Given the description of an element on the screen output the (x, y) to click on. 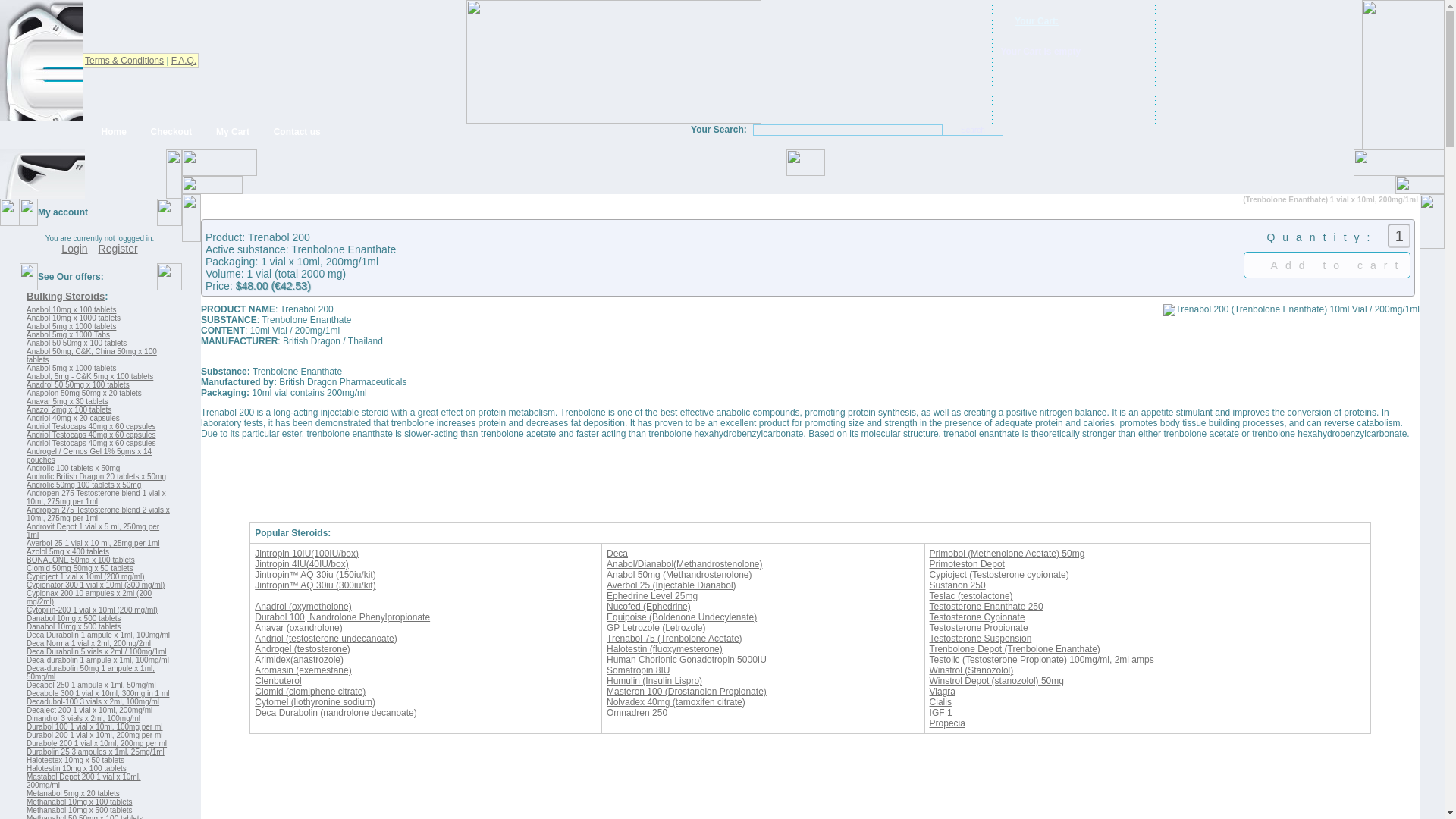
Andriol Testocaps 40mg x 60 capsules (90, 426)
Androvit Depot 1 vial x 5 ml, 250mg per 1ml (92, 530)
My Cart (225, 131)
Anapolon 50mg 50mg x 20 tablets (83, 393)
Androlic 50mg 100 tablets x 50mg (83, 484)
Andriol Testocaps 40mg x 60 capsules (90, 442)
Anazol 2mg x 100 tablets (69, 409)
Anavar 5mg x 30 tablets (66, 401)
Login (74, 248)
Register (118, 248)
Anabol 5mg x 1000 Tabs (68, 334)
Search (972, 129)
Anabol 5mg x 1000 tablets (71, 326)
Contact us (290, 131)
